Given the description of an element on the screen output the (x, y) to click on. 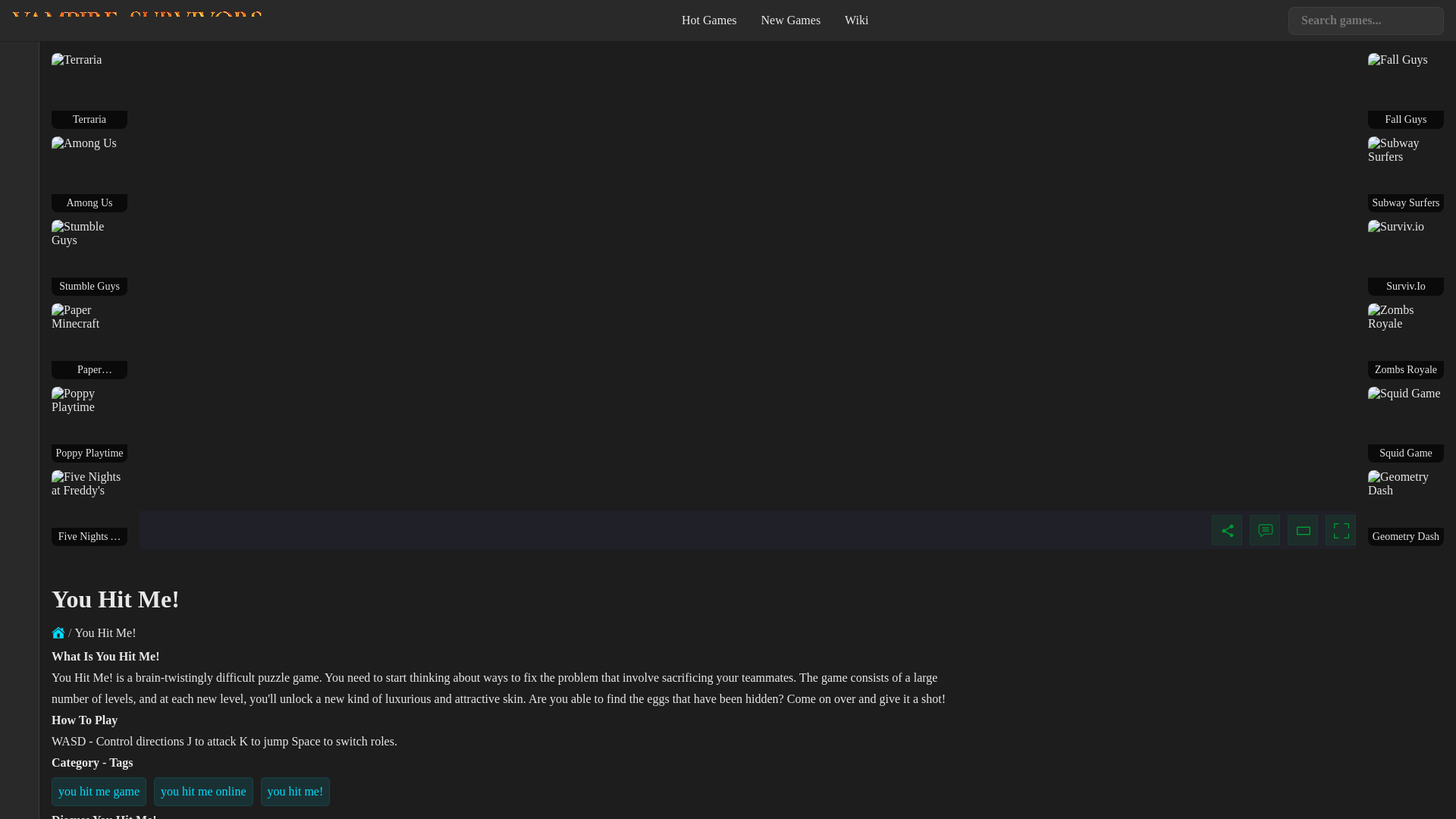
Wiki (856, 20)
Among Us (83, 142)
Poppy Playtime (89, 400)
Among Us (89, 174)
Geometry Dash (1406, 483)
Terraria (75, 59)
Fall Guys (1406, 90)
Zombs Royale (1406, 317)
Vampire Survivors (136, 20)
Surviv.Io (1406, 257)
Squid Game (1404, 393)
New Games (790, 20)
Poppy Playtime (89, 424)
Stumble Guys (89, 257)
